Given the description of an element on the screen output the (x, y) to click on. 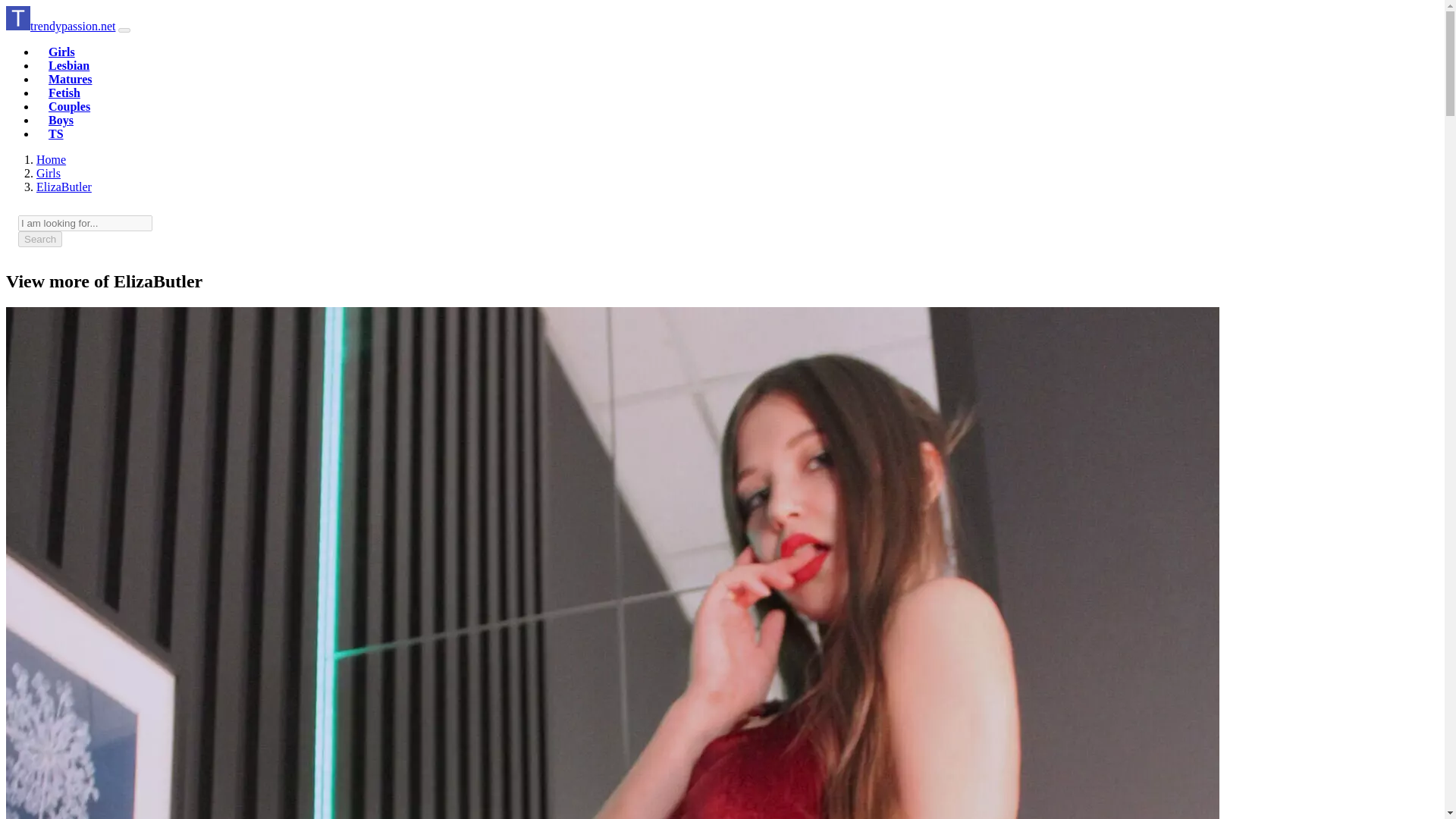
Fetish (64, 92)
Fetish (64, 92)
TS (56, 133)
Girls (48, 173)
Couples (69, 106)
Girls (61, 51)
Lesbian (68, 65)
ElizaButler (63, 186)
Girls (61, 51)
Boys (61, 119)
Matures (69, 78)
Girls (48, 173)
trendypassion.net (60, 25)
TS (56, 133)
